Given the description of an element on the screen output the (x, y) to click on. 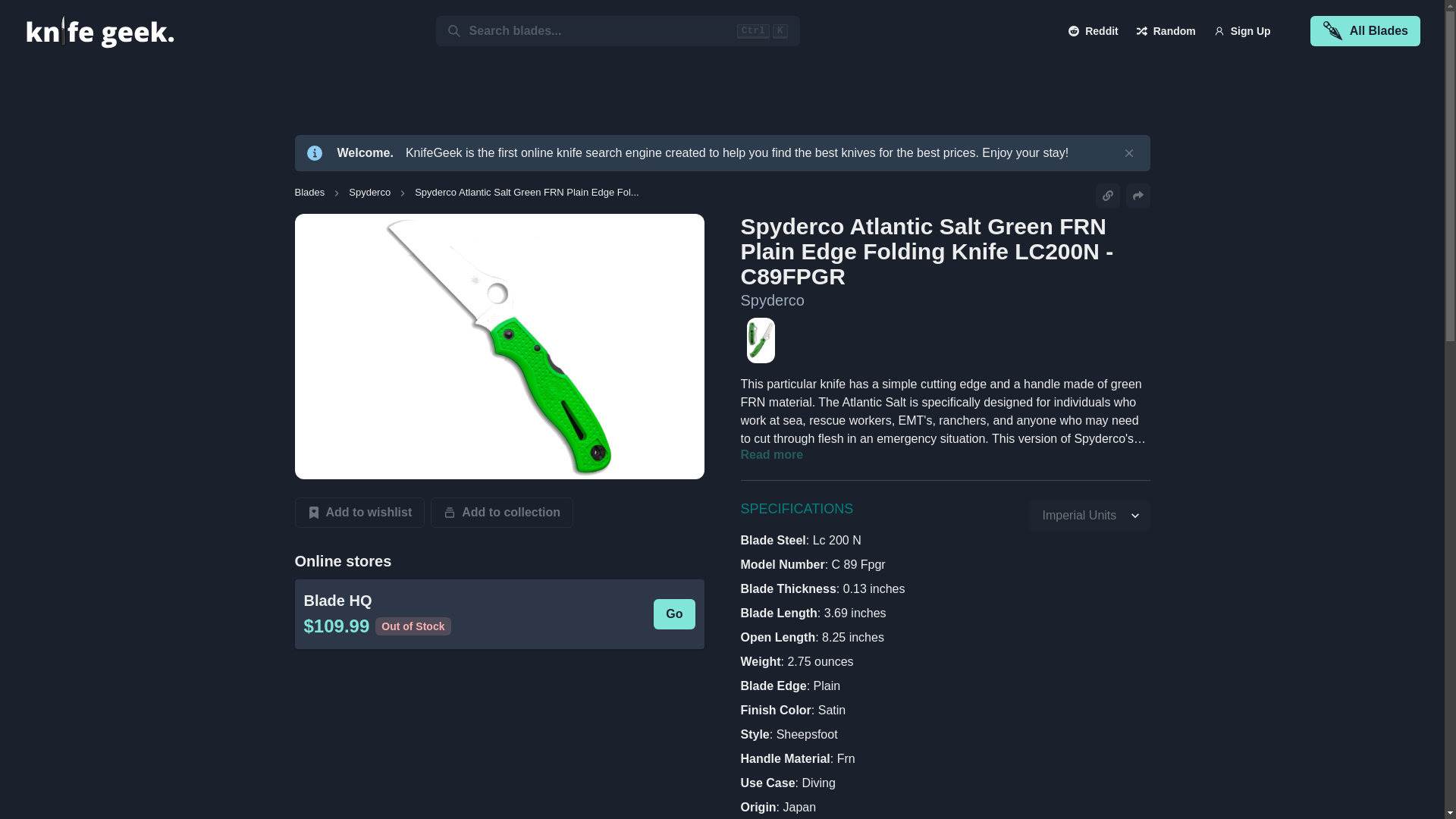
Spyderco Atlantic Salt Green FRN Plain Edge Fol... (526, 192)
Read more (771, 454)
Reddit (1092, 30)
Blades (309, 192)
Spyderco (772, 299)
Add to collection (501, 512)
All Blades (1365, 30)
Sign Up (1242, 30)
Add to wishlist (359, 512)
Go (673, 613)
Spyderco (369, 192)
Control (753, 30)
Random (1165, 30)
